Given the description of an element on the screen output the (x, y) to click on. 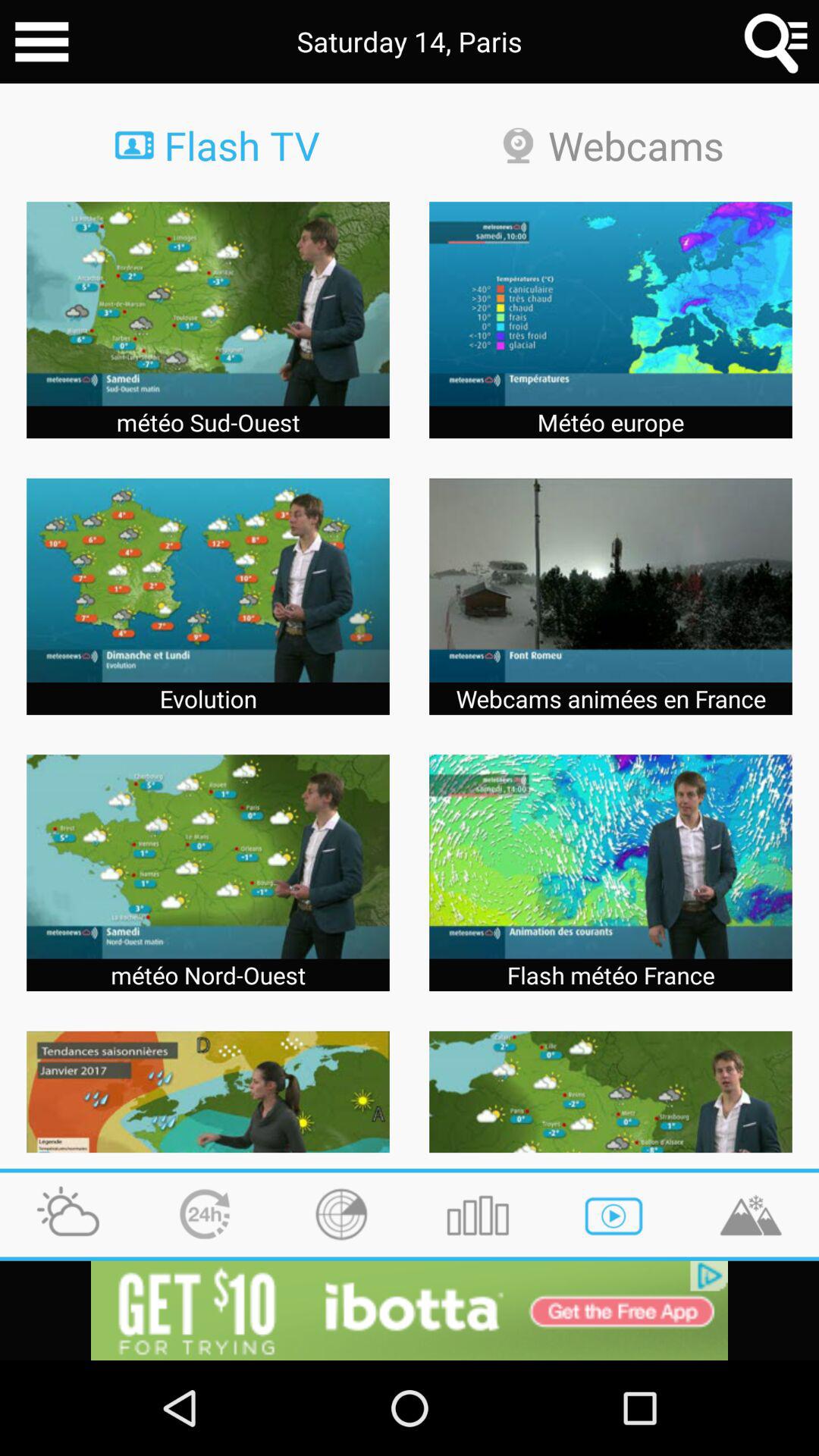
search (777, 41)
